Given the description of an element on the screen output the (x, y) to click on. 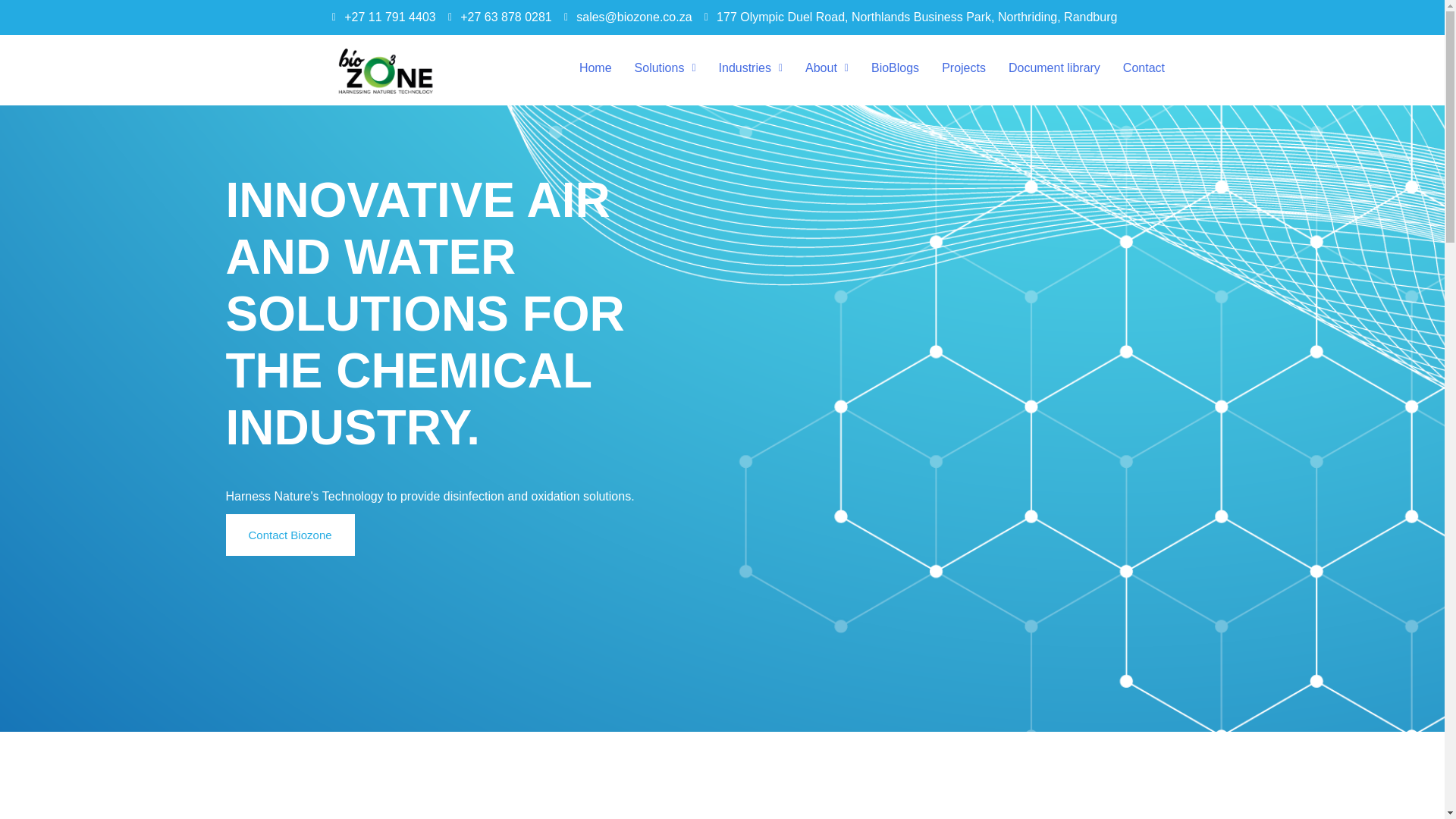
Contact (1144, 67)
Document library (1054, 67)
Projects (963, 67)
Contact Biozone (290, 535)
Industries (750, 67)
Solutions (665, 67)
Home (595, 67)
About (826, 67)
BioBlogs (895, 67)
